Given the description of an element on the screen output the (x, y) to click on. 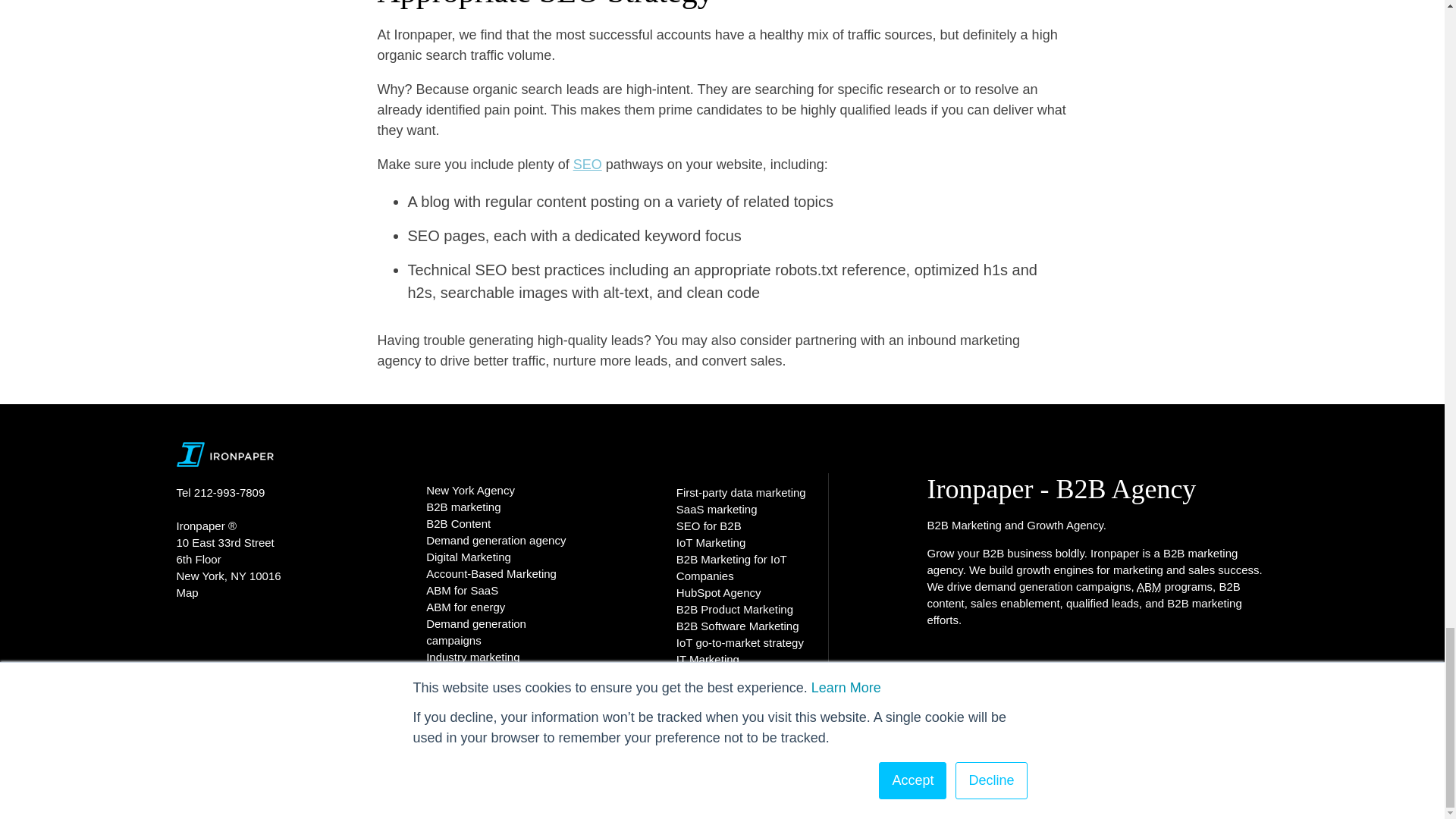
Map (187, 592)
SEO (587, 164)
B2B Content (458, 522)
New York Agency (470, 490)
B2B marketing (463, 506)
Account-based marketing (1149, 585)
212-993-7809 (230, 492)
